Given the description of an element on the screen output the (x, y) to click on. 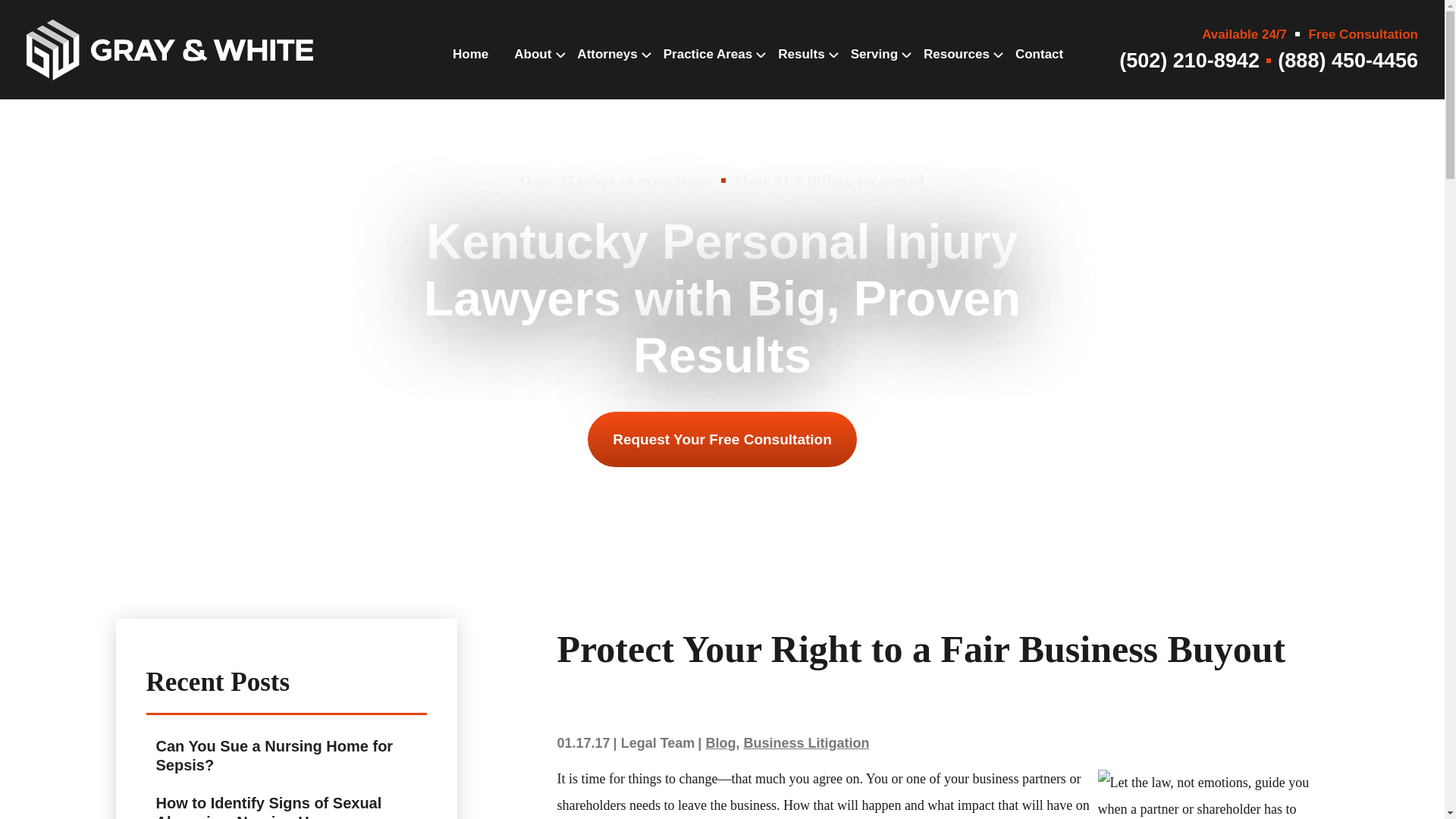
Attorneys (606, 68)
Resources (956, 68)
Practice Areas (707, 68)
Results (800, 68)
Serving (874, 68)
